Given the description of an element on the screen output the (x, y) to click on. 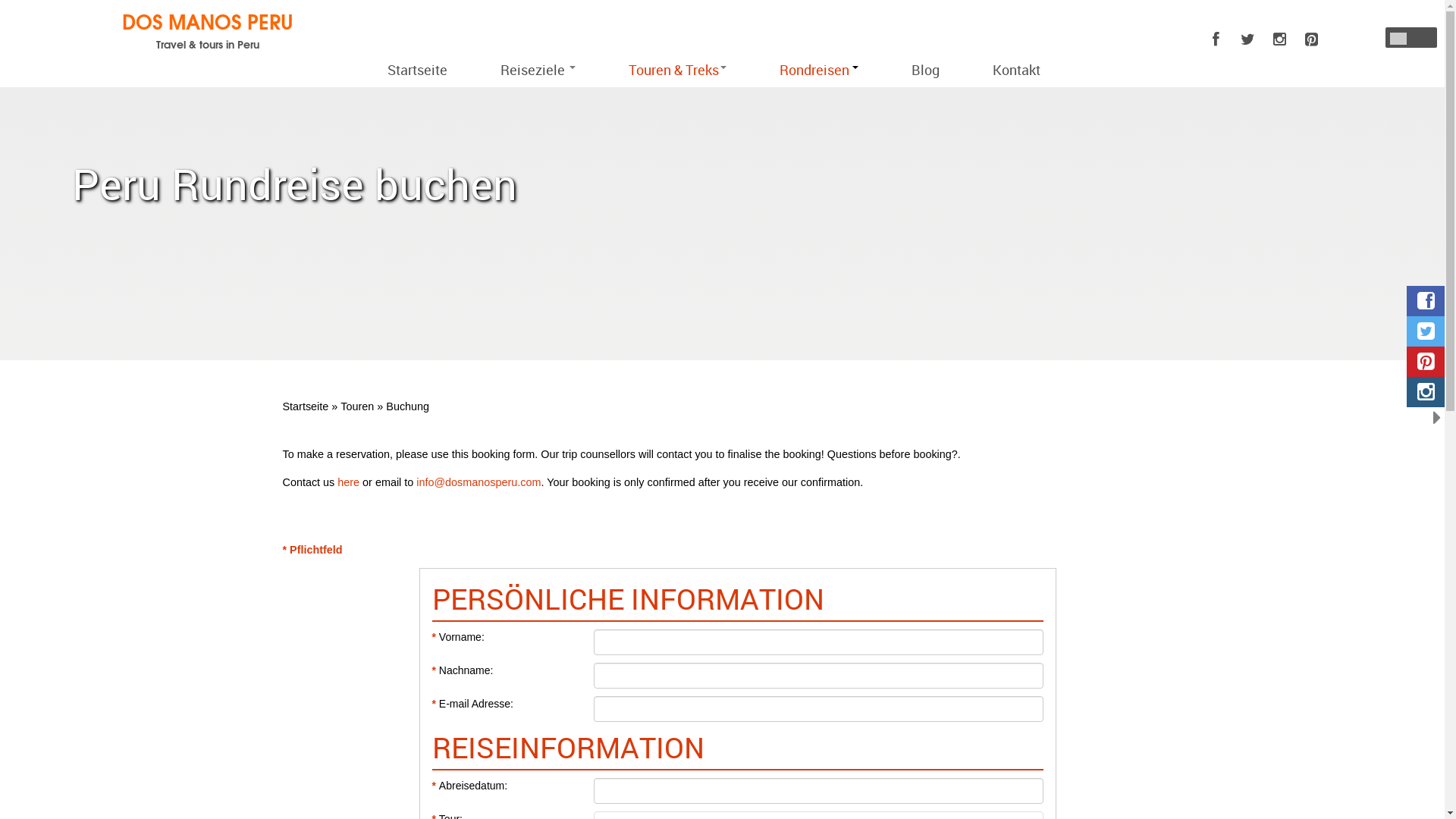
Pinterest (1311, 39)
Instagram (1280, 39)
Reiseziele (538, 69)
Startseite (417, 69)
Twitter (1248, 39)
Facebook (1216, 39)
